Given the description of an element on the screen output the (x, y) to click on. 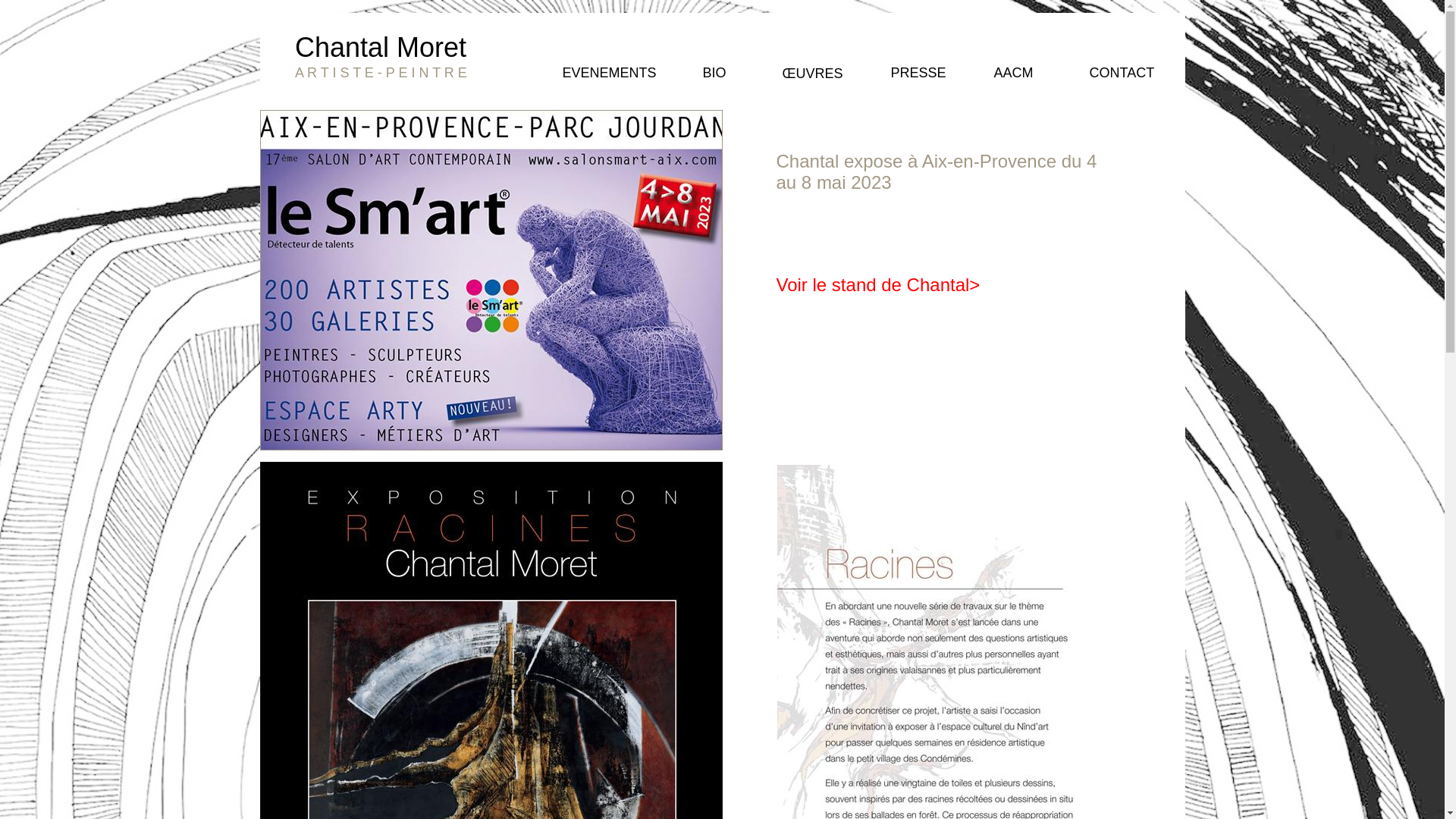
PRESSE Element type: text (917, 72)
AACM Element type: text (1012, 74)
Voir le stand de Chantal> Element type: text (878, 284)
CONTACT Element type: text (1121, 74)
Chantal Moret Element type: text (380, 49)
EVENEMENTS Element type: text (609, 74)
BIO Element type: text (713, 74)
